Given the description of an element on the screen output the (x, y) to click on. 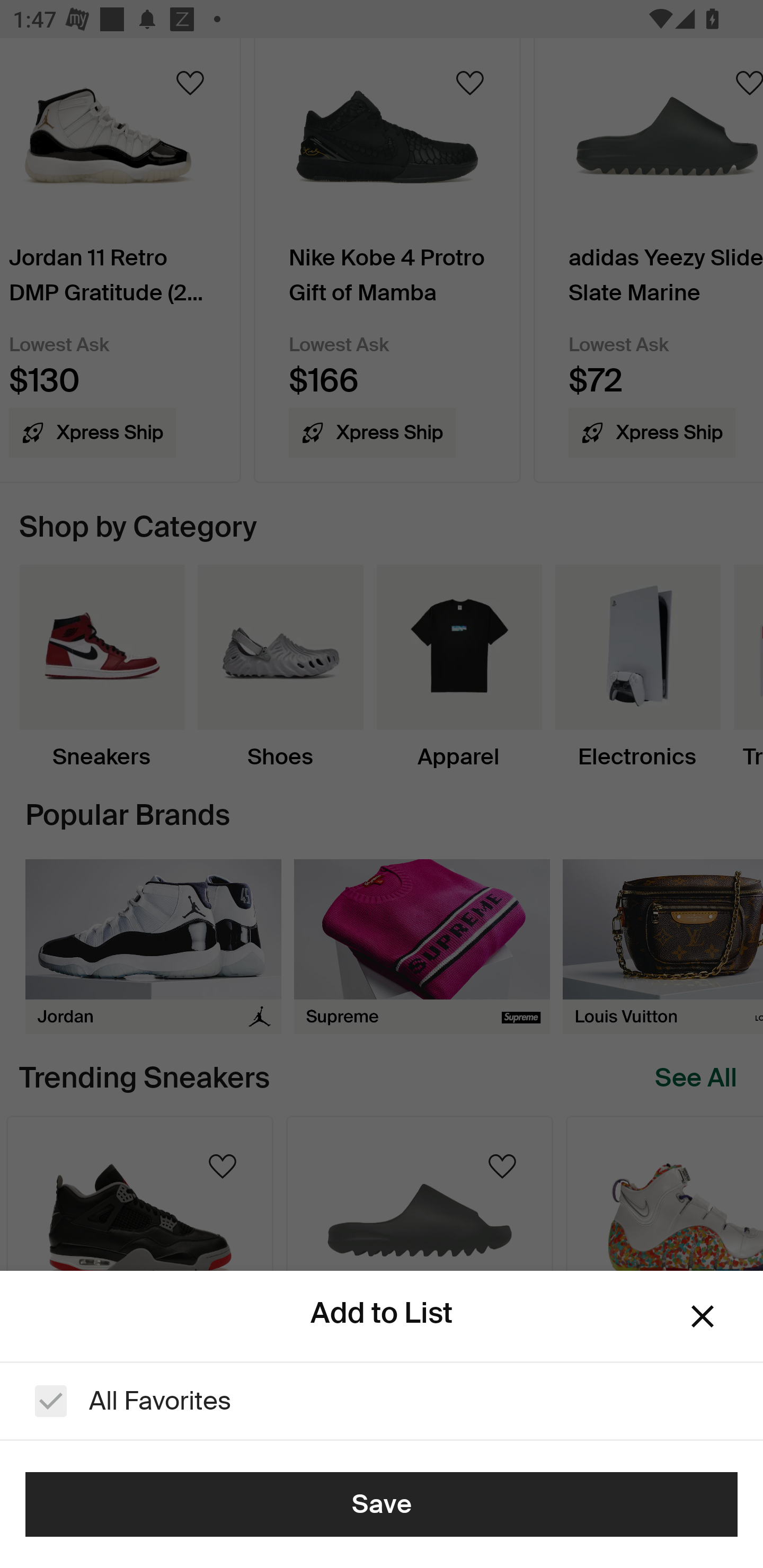
Dismiss (702, 1315)
All Favorites (381, 1400)
Save (381, 1504)
